Given the description of an element on the screen output the (x, y) to click on. 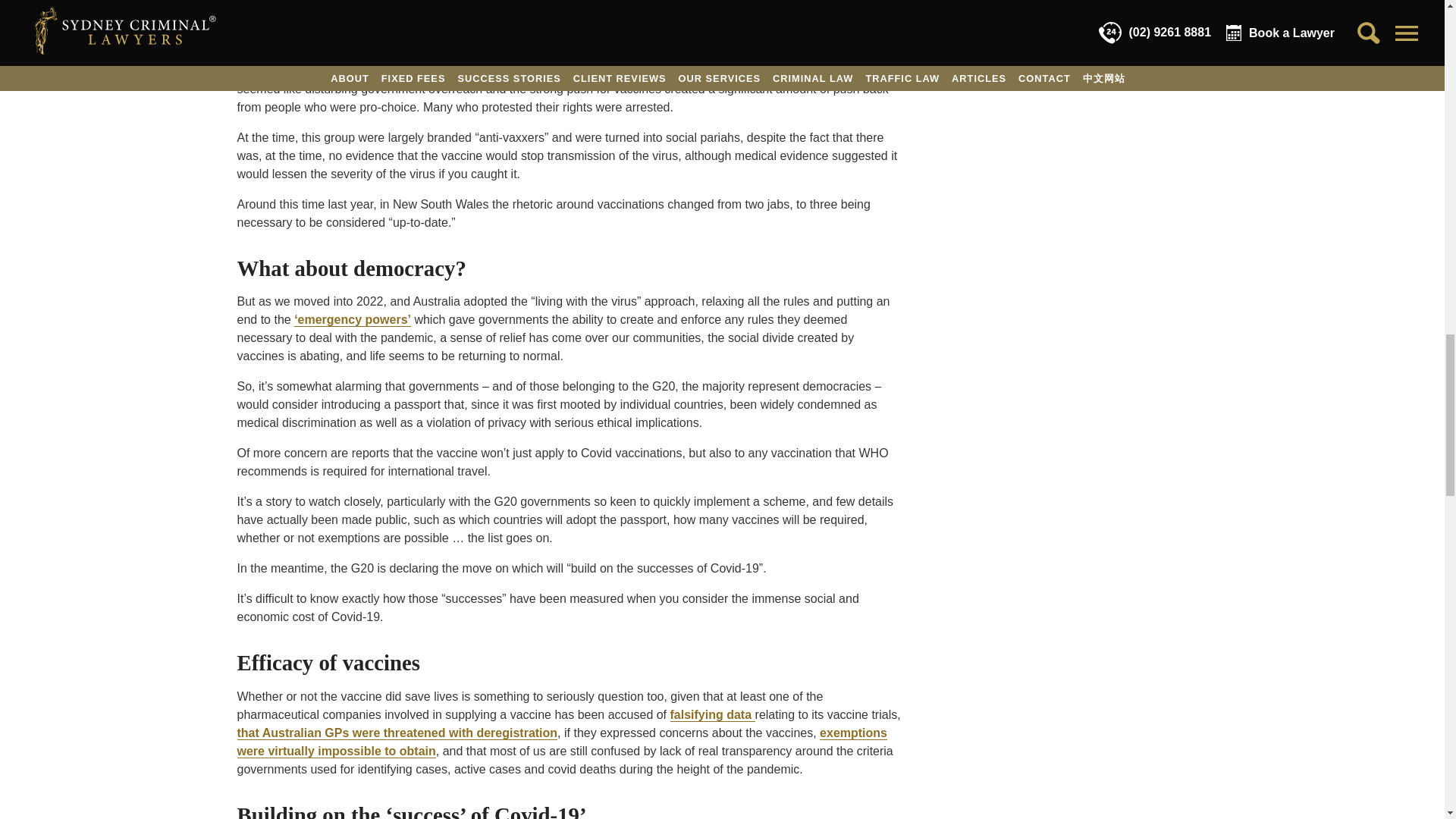
exemptions were virtually impossible to obtain (560, 742)
that Australian GPs were threatened with deregistration (396, 733)
falsifying data (712, 714)
